Given the description of an element on the screen output the (x, y) to click on. 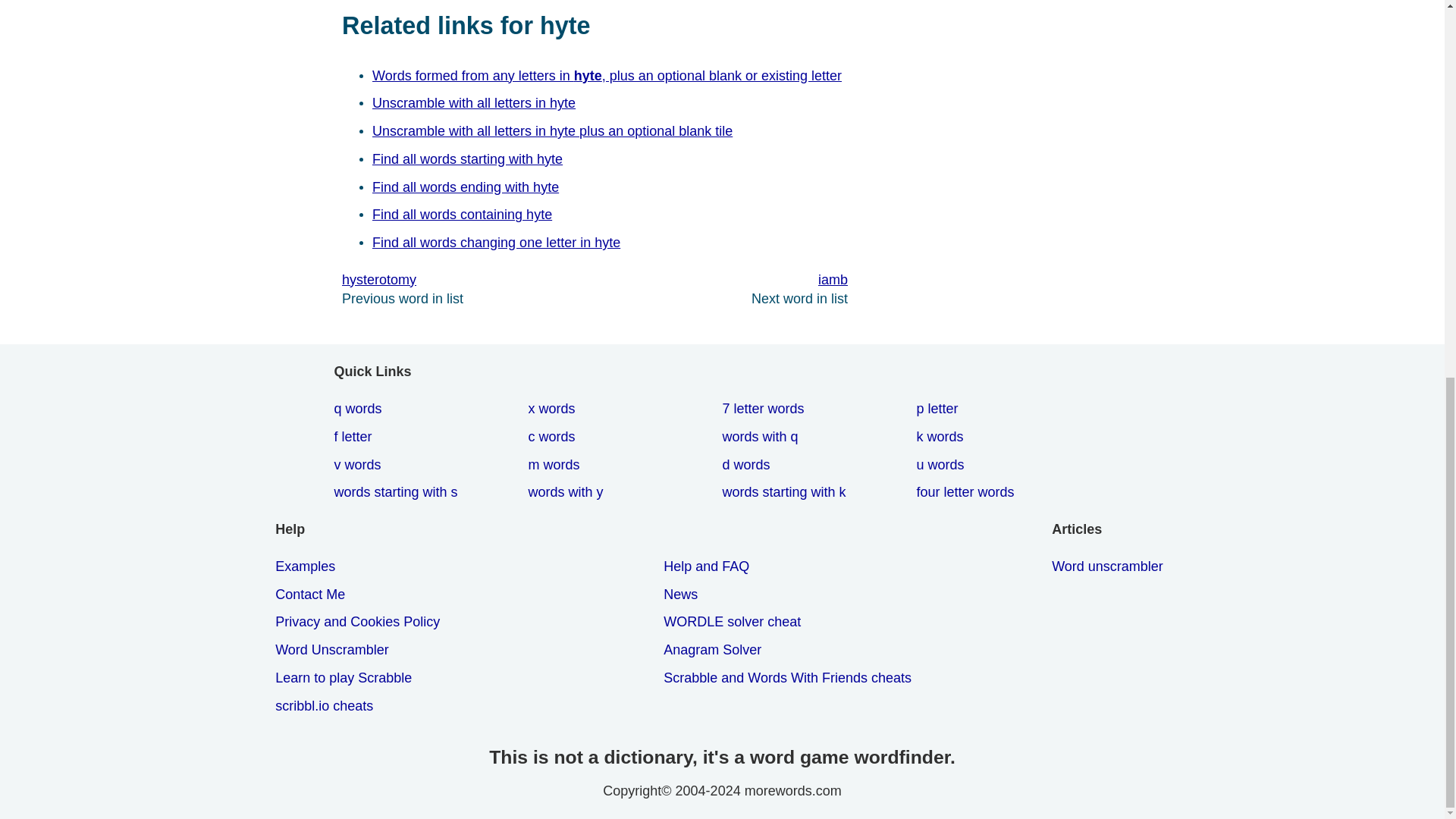
q words (360, 408)
d words (749, 465)
Find all words changing one letter in hyte (499, 243)
p letter (939, 408)
hysterotomy (468, 280)
Contact Me (312, 594)
iamb (720, 280)
v words (360, 465)
x words (553, 408)
v words (360, 465)
u words (942, 465)
k words (942, 437)
words starting with s (398, 492)
m words (556, 465)
